Given the description of an element on the screen output the (x, y) to click on. 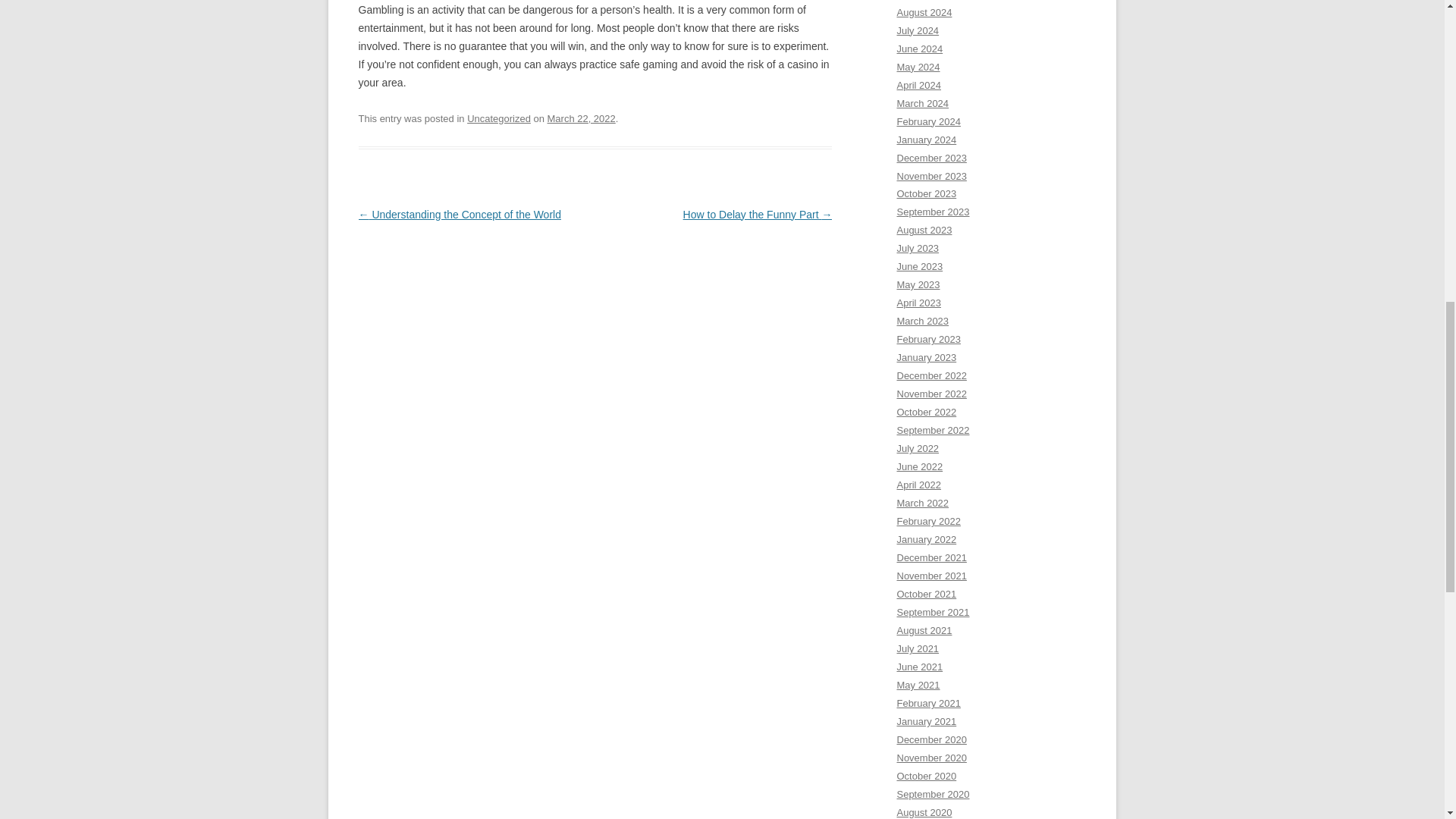
July 2023 (917, 247)
May 2024 (917, 66)
April 2024 (918, 84)
August 2024 (924, 12)
December 2023 (931, 157)
August 2023 (924, 229)
July 2024 (917, 30)
November 2023 (931, 174)
5:55 am (581, 118)
Uncategorized (499, 118)
February 2024 (927, 121)
June 2024 (919, 48)
January 2024 (926, 139)
March 2024 (922, 102)
September 2023 (932, 211)
